Given the description of an element on the screen output the (x, y) to click on. 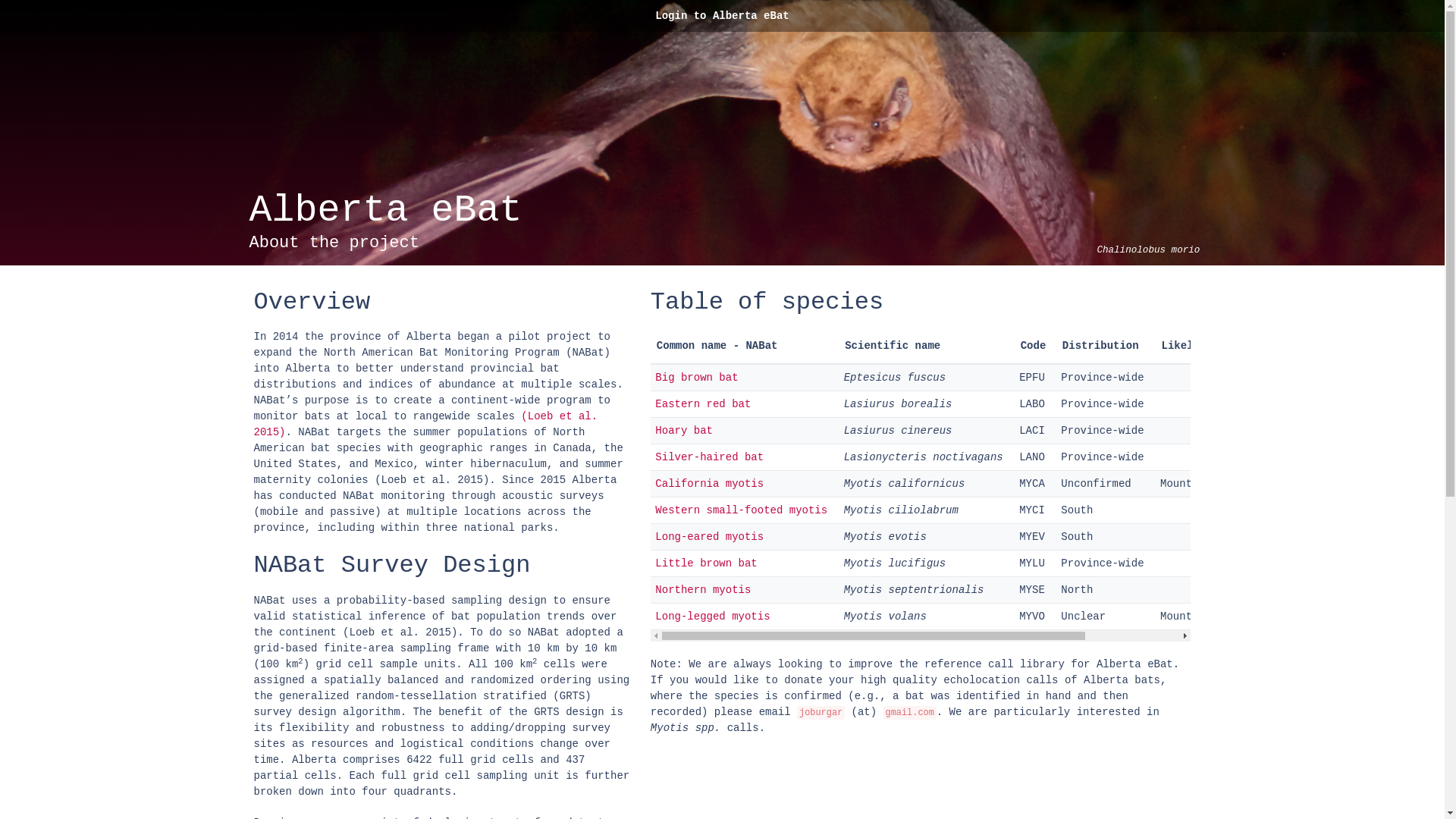
Silver-haired bat Element type: text (709, 457)
Big brown bat Element type: text (696, 377)
Login to Alberta eBat Element type: text (721, 15)
Eastern red bat Element type: text (702, 404)
Northern myotis Element type: text (702, 589)
(Loeb et al. 2015) Element type: text (425, 424)
Long-eared myotis Element type: text (709, 536)
California myotis Element type: text (709, 483)
Western small-footed myotis Element type: text (741, 510)
Hoary bat Element type: text (683, 430)
Little brown bat Element type: text (705, 563)
Long-legged myotis Element type: text (712, 616)
